Given the description of an element on the screen output the (x, y) to click on. 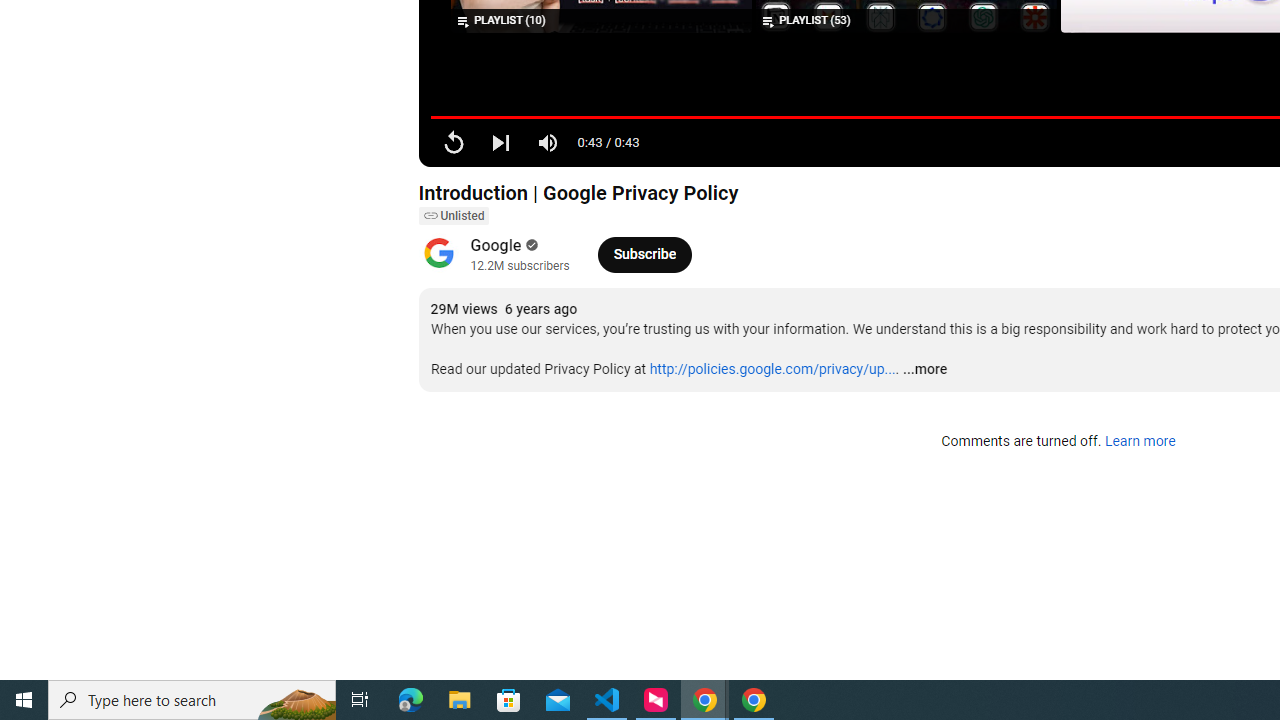
Mute (m) (548, 142)
http://policies.google.com/privacy/up... (772, 369)
Verified (530, 245)
Learn more (1139, 442)
Unlisted (453, 216)
...more (924, 370)
Subscribe to Google. (644, 254)
Next (SHIFT+n) (500, 142)
Google (496, 245)
Pause (k) (453, 142)
